Given the description of an element on the screen output the (x, y) to click on. 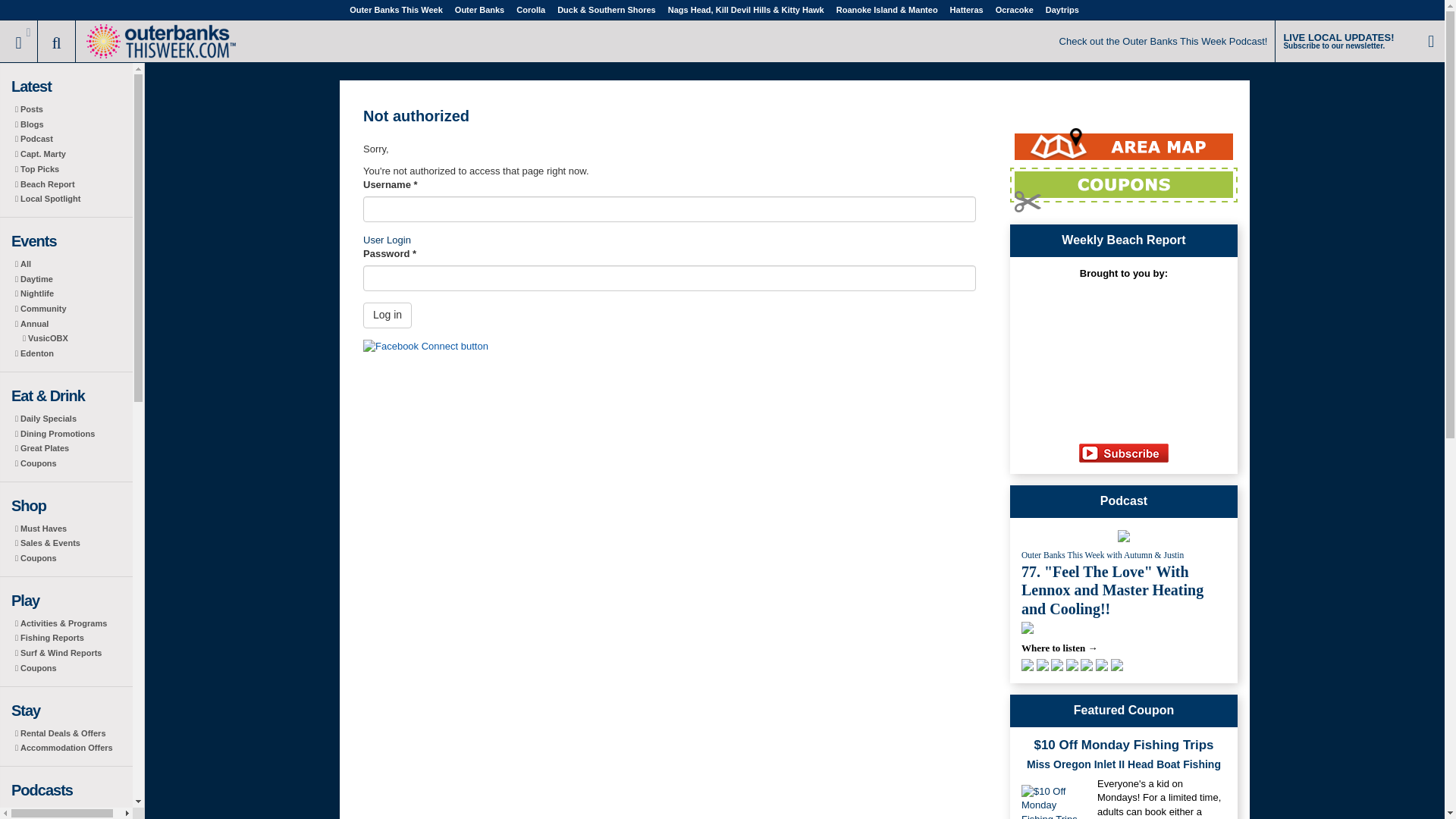
VusicOBX (72, 338)
Podcast (72, 139)
Annual (72, 324)
Capt. Marty (72, 154)
Enter the password that accompanies your username. (668, 278)
Hatteras (966, 9)
Posts (72, 109)
Local Spotlight (72, 199)
Edenton (72, 353)
